Given the description of an element on the screen output the (x, y) to click on. 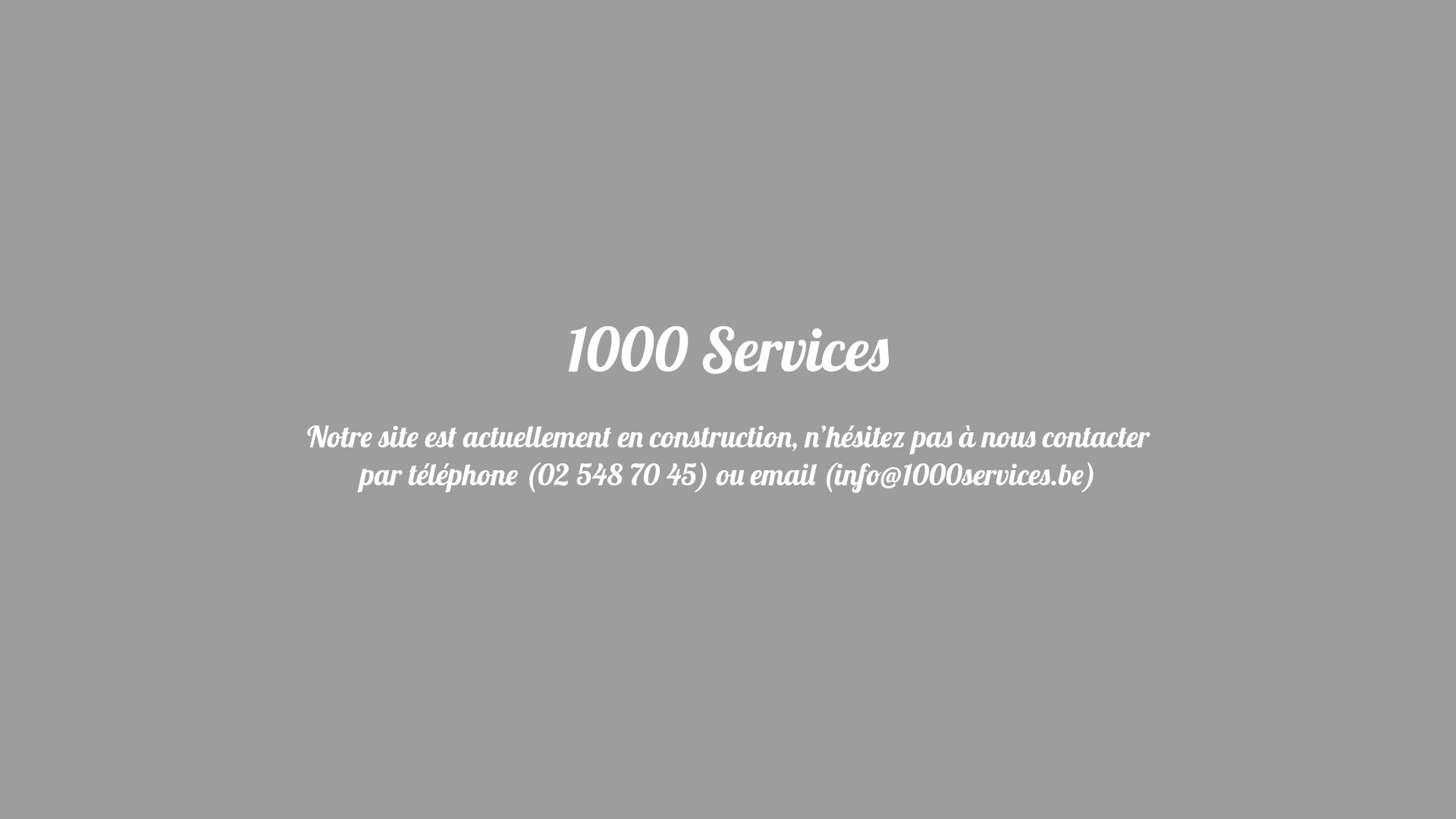
1000 Services Element type: text (727, 359)
